Given the description of an element on the screen output the (x, y) to click on. 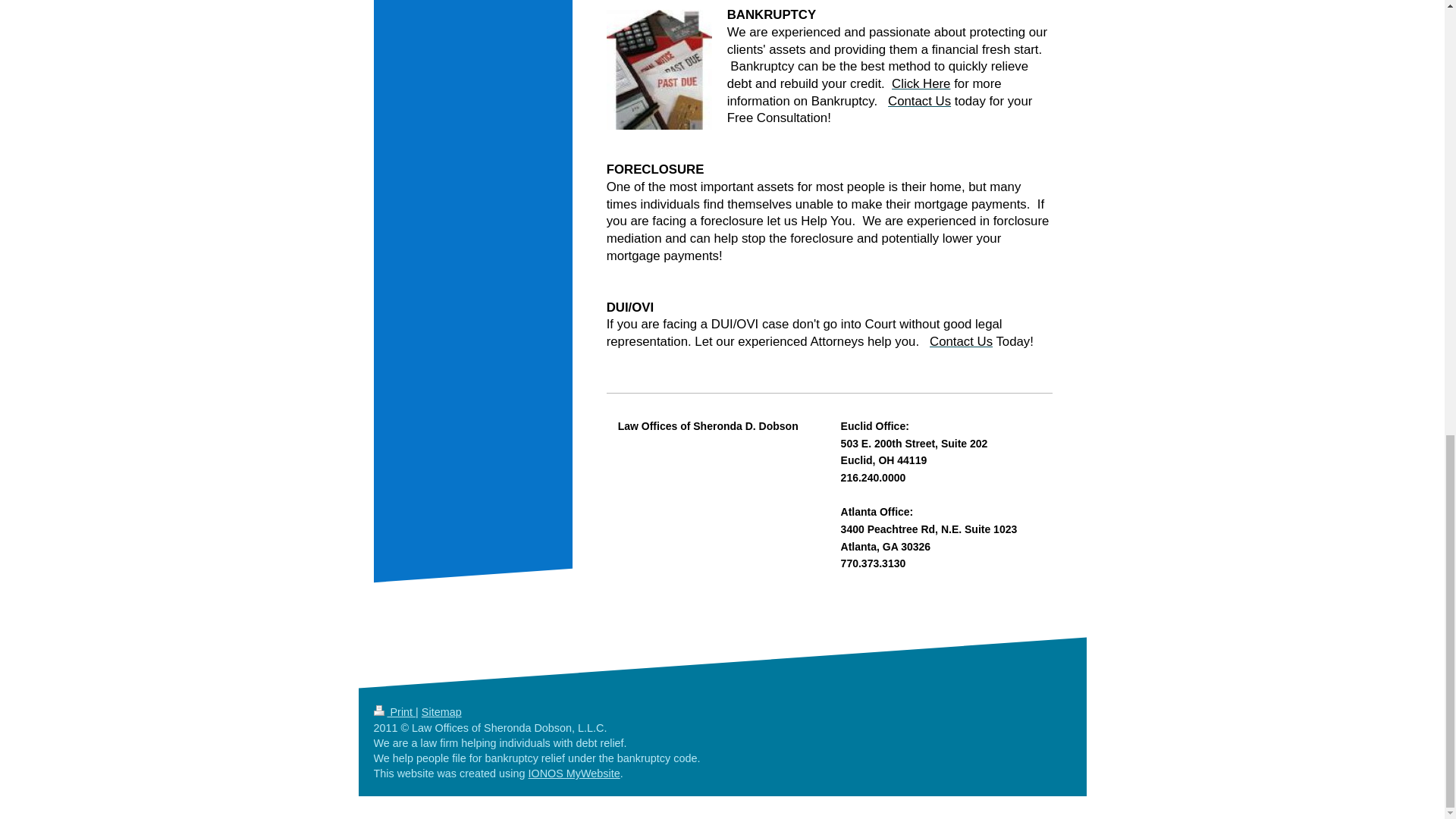
Contact Us (919, 101)
Sitemap (441, 711)
Contact Us (961, 341)
IONOS MyWebsite (573, 773)
Click Here (920, 83)
Print (393, 711)
